Given the description of an element on the screen output the (x, y) to click on. 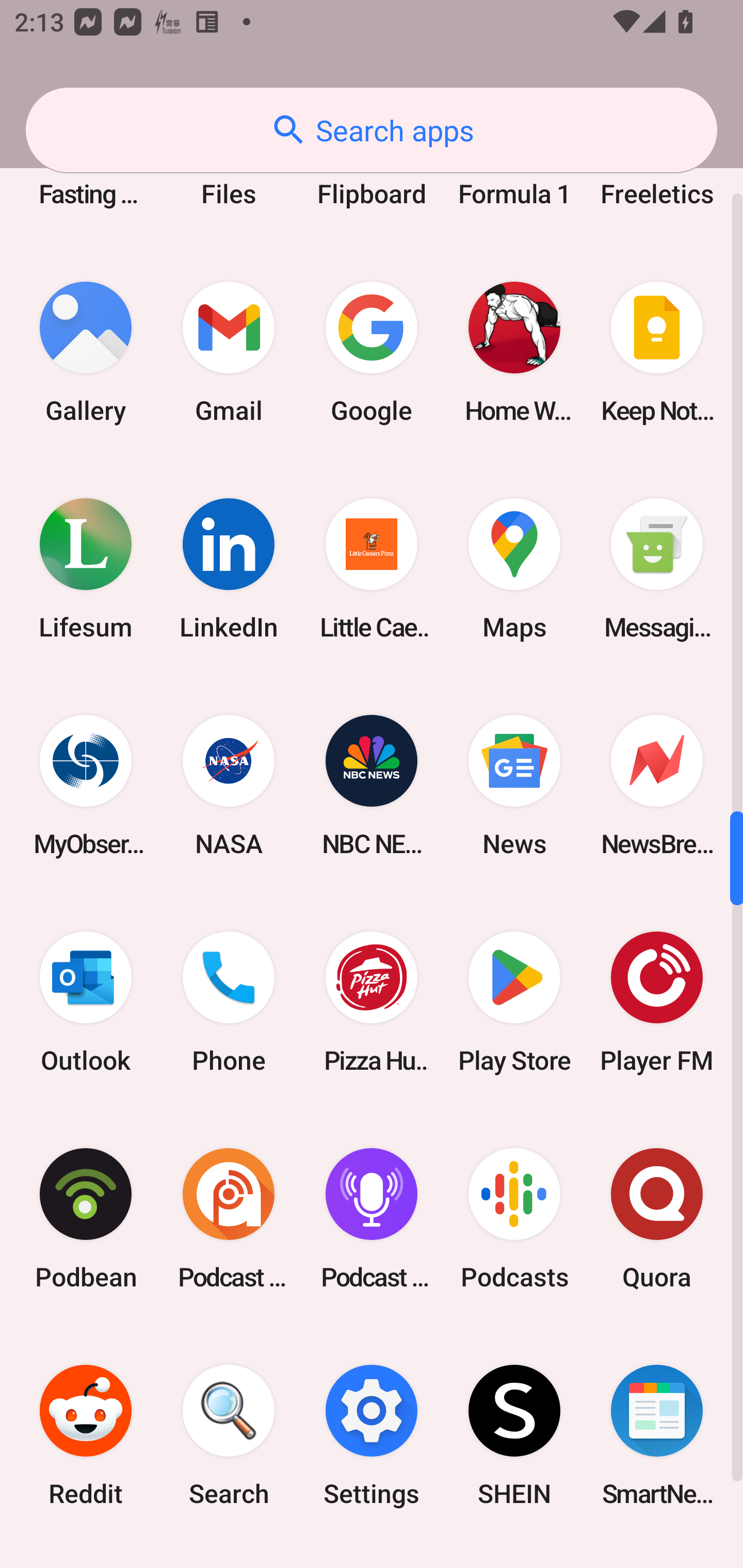
  Search apps (371, 130)
Gallery (85, 352)
Gmail (228, 352)
Google (371, 352)
Home Workout (514, 352)
Keep Notes (656, 352)
Lifesum (85, 568)
LinkedIn (228, 568)
Little Caesars Pizza (371, 568)
Maps (514, 568)
Messaging (656, 568)
MyObservatory (85, 785)
NASA (228, 785)
NBC NEWS (371, 785)
News (514, 785)
NewsBreak (656, 785)
Outlook (85, 1001)
Phone (228, 1001)
Pizza Hut HK & Macau (371, 1001)
Play Store (514, 1001)
Player FM (656, 1001)
Podbean (85, 1218)
Podcast Addict (228, 1218)
Podcast Player (371, 1218)
Podcasts (514, 1218)
Quora (656, 1218)
Reddit (85, 1435)
Search (228, 1435)
Settings (371, 1435)
SHEIN (514, 1435)
SmartNews (656, 1435)
